Given the description of an element on the screen output the (x, y) to click on. 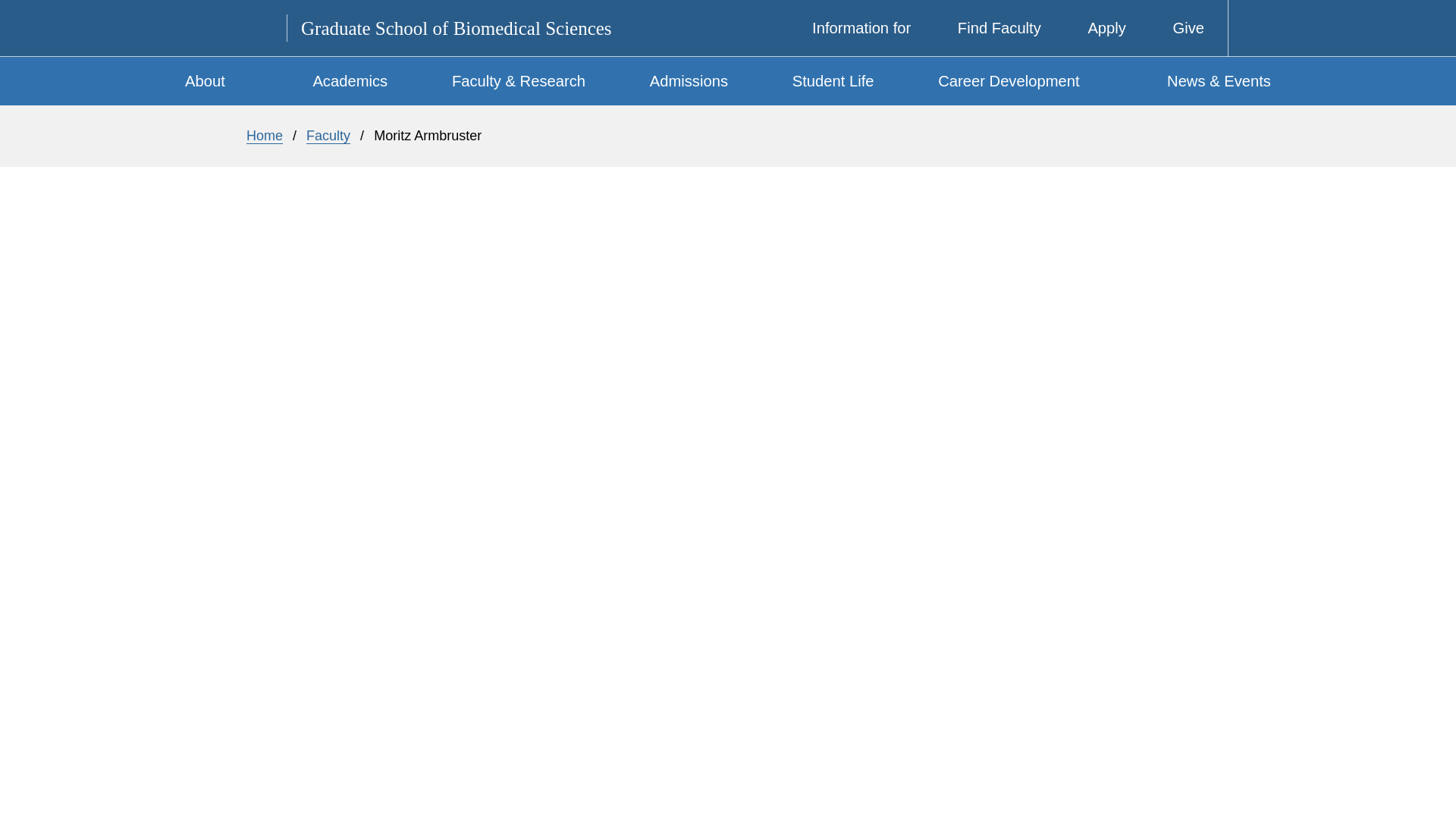
Information for (850, 28)
Give (1176, 28)
Skip to main content (743, 4)
Find Faculty (987, 28)
Apply (1095, 28)
Graduate School of Biomedical Sciences (456, 28)
Open search (1252, 28)
About (235, 80)
Academics (350, 80)
